Given the description of an element on the screen output the (x, y) to click on. 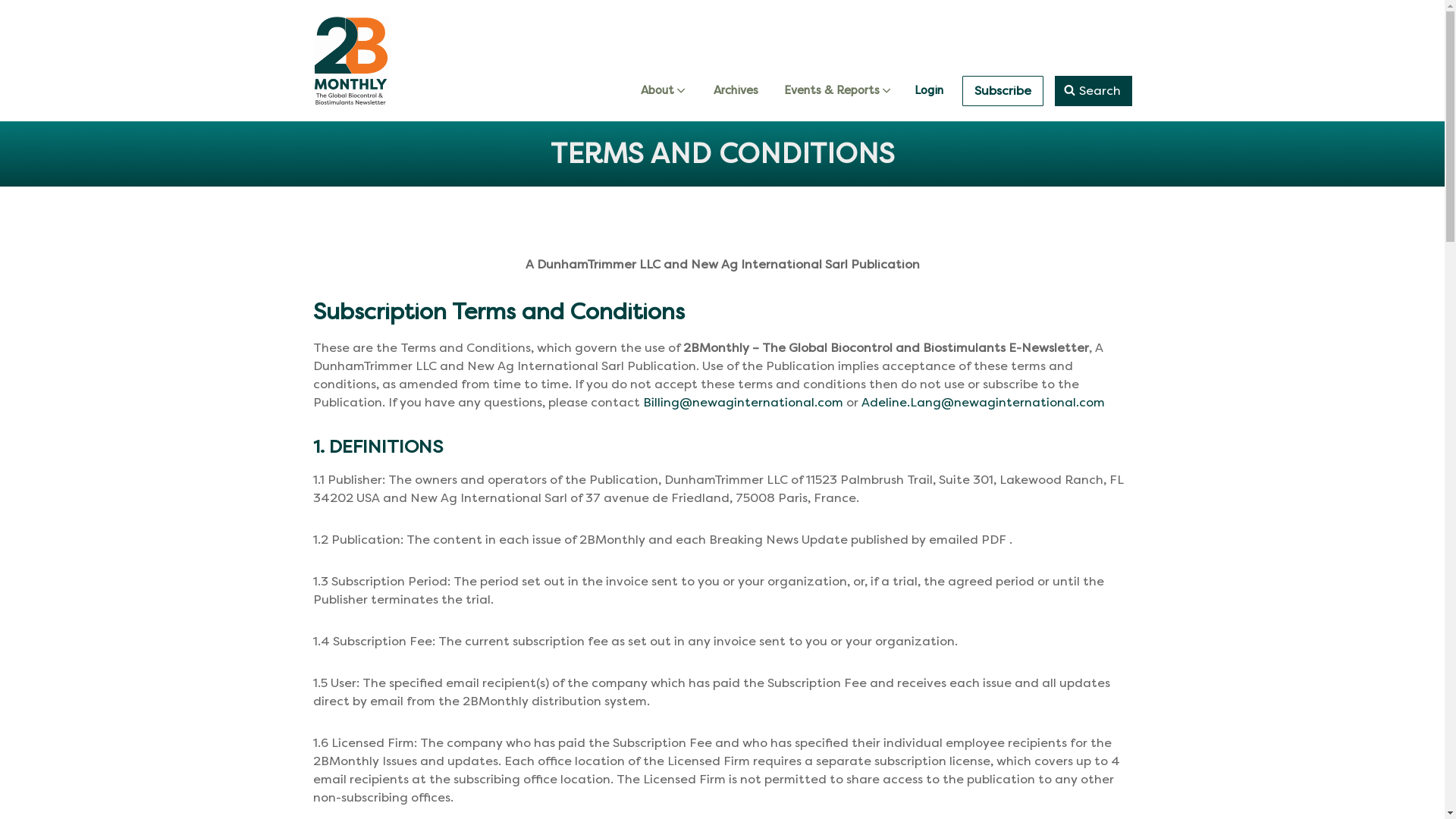
Subscribe Element type: text (1001, 90)
Adeline.Lang@newaginternational.com Element type: text (982, 402)
Search Element type: text (1092, 90)
Billing@newaginternational.com Element type: text (743, 402)
Login Element type: text (928, 90)
Events & Reports Element type: text (838, 90)
Archives Element type: text (735, 90)
About Element type: text (663, 90)
